Given the description of an element on the screen output the (x, y) to click on. 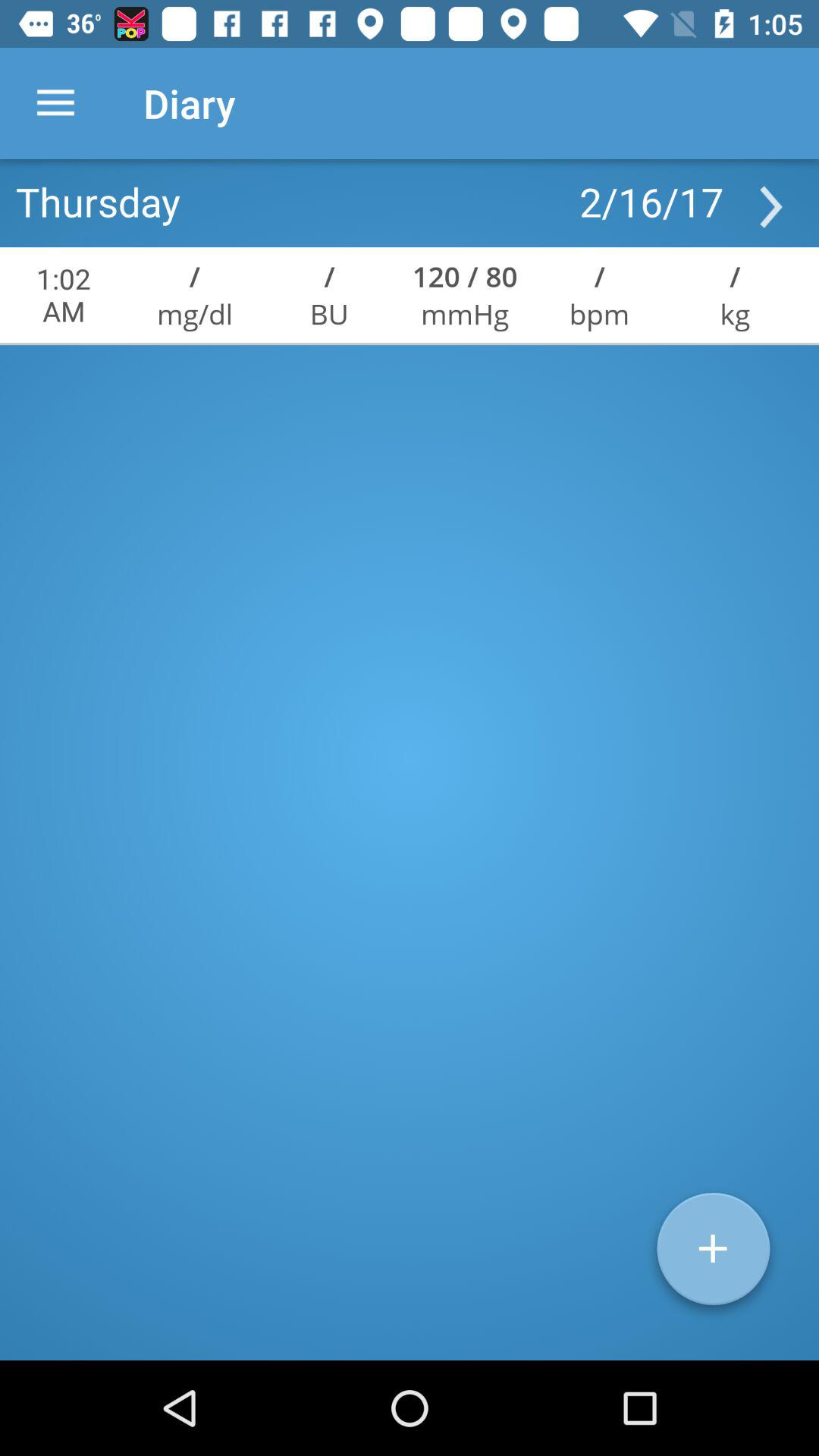
launch item below the 120 / 80 (464, 313)
